Given the description of an element on the screen output the (x, y) to click on. 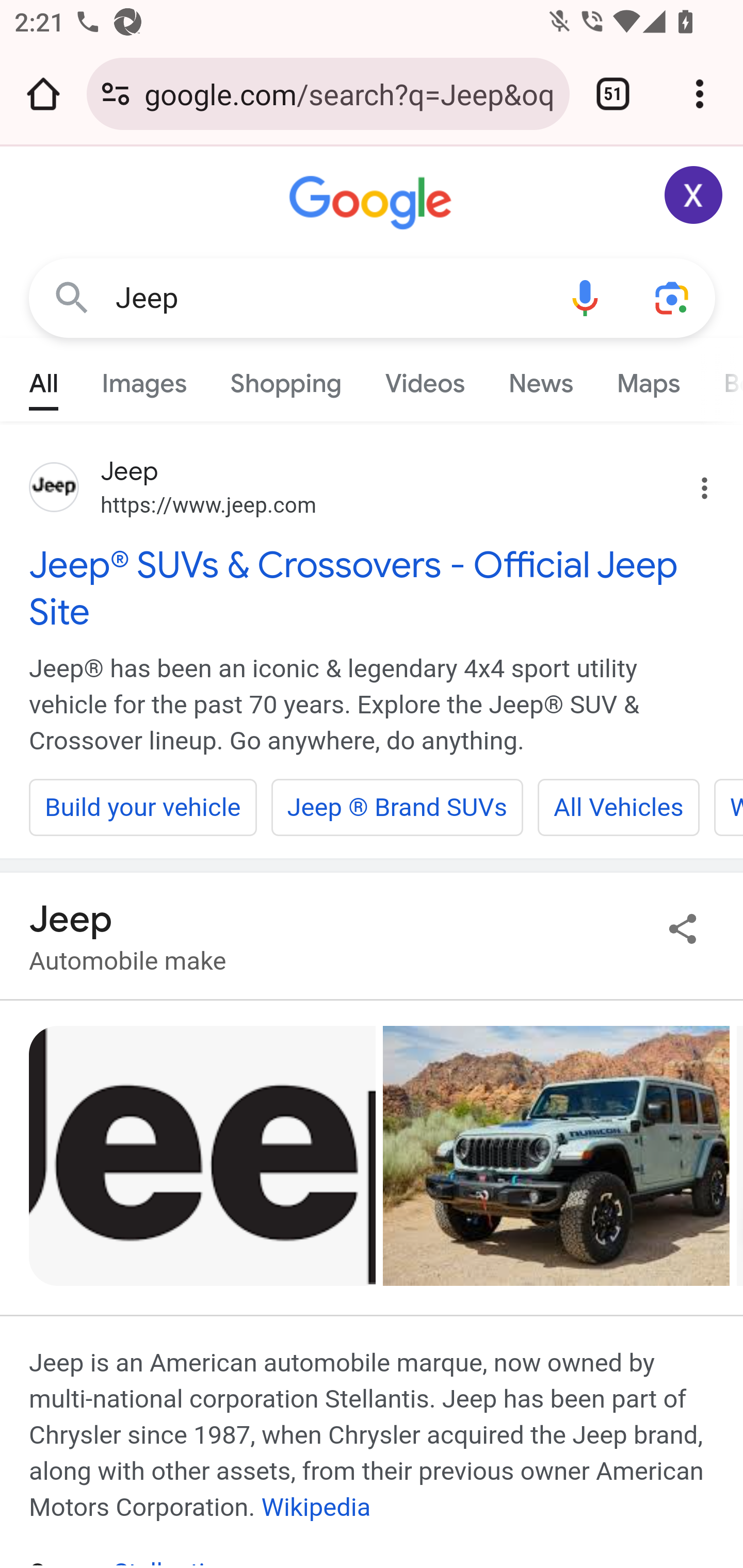
Open the home page (43, 93)
Connection is secure (115, 93)
Switch or close tabs (612, 93)
Customize and control Google Chrome (699, 93)
Google (372, 203)
Google Account: Xiaoran (zxrappiumtest@gmail.com) (694, 195)
Google Search (71, 296)
Search using your camera or photos (672, 296)
Jeep (328, 297)
Images (144, 378)
Shopping (285, 378)
Videos (424, 378)
News (540, 378)
Maps (647, 378)
Jeep® SUVs & Crossovers - Official Jeep Site (372, 587)
Build your vehicle (142, 807)
Jeep ® Brand SUVs (397, 807)
All Vehicles (618, 807)
Share (683, 928)
Wikipedia (316, 1507)
